Given the description of an element on the screen output the (x, y) to click on. 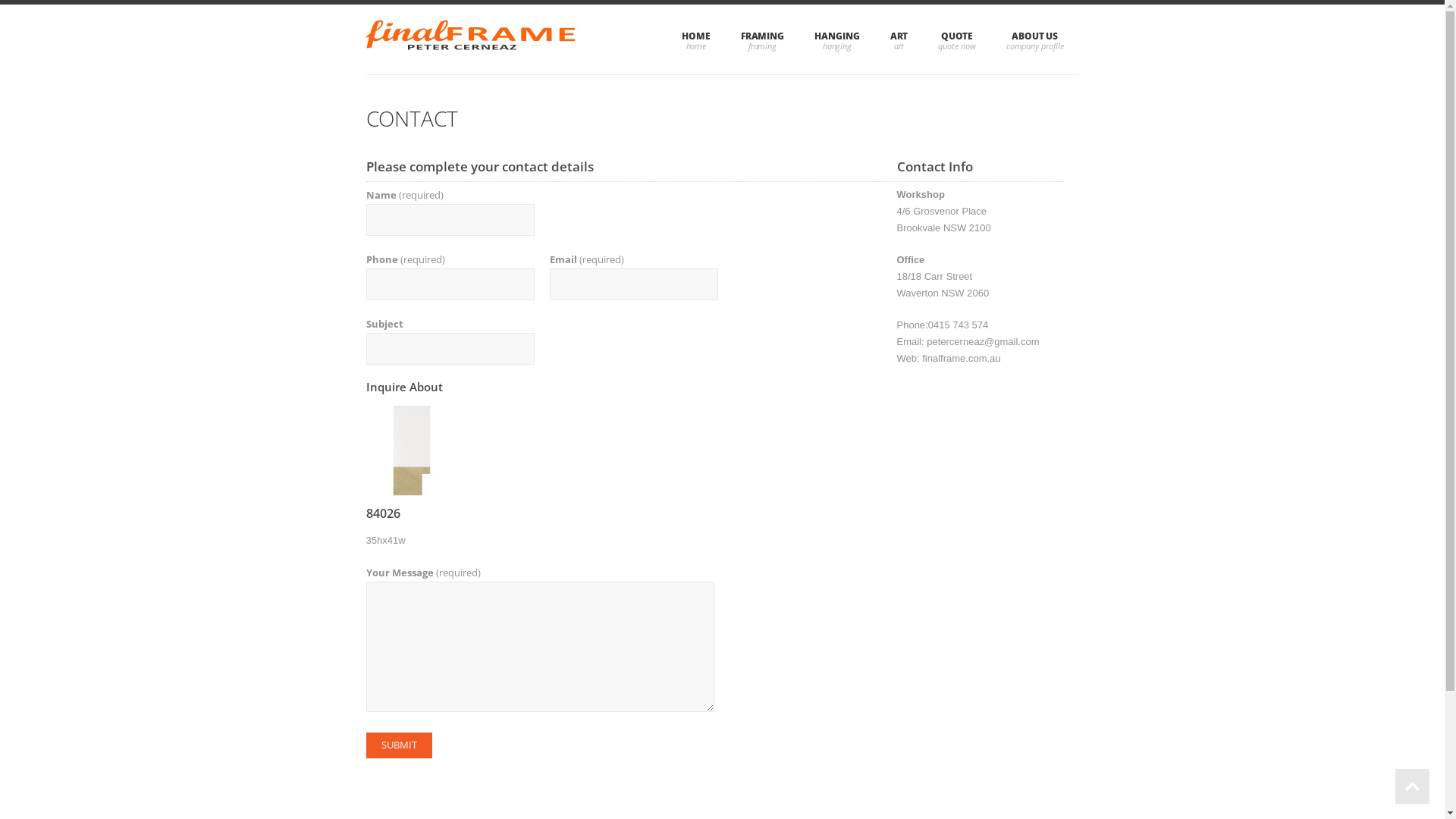
Back to Top Element type: text (1412, 785)
Picture Framing Sydney | FINAL FRAME | Element type: hover (471, 39)
ART Element type: text (899, 39)
HANGING Element type: text (836, 39)
FRAMING Element type: text (762, 39)
Submit Element type: text (398, 745)
HOME Element type: text (695, 39)
ABOUT US Element type: text (1035, 39)
CONTACT Element type: text (411, 117)
QUOTE Element type: text (956, 39)
